Given the description of an element on the screen output the (x, y) to click on. 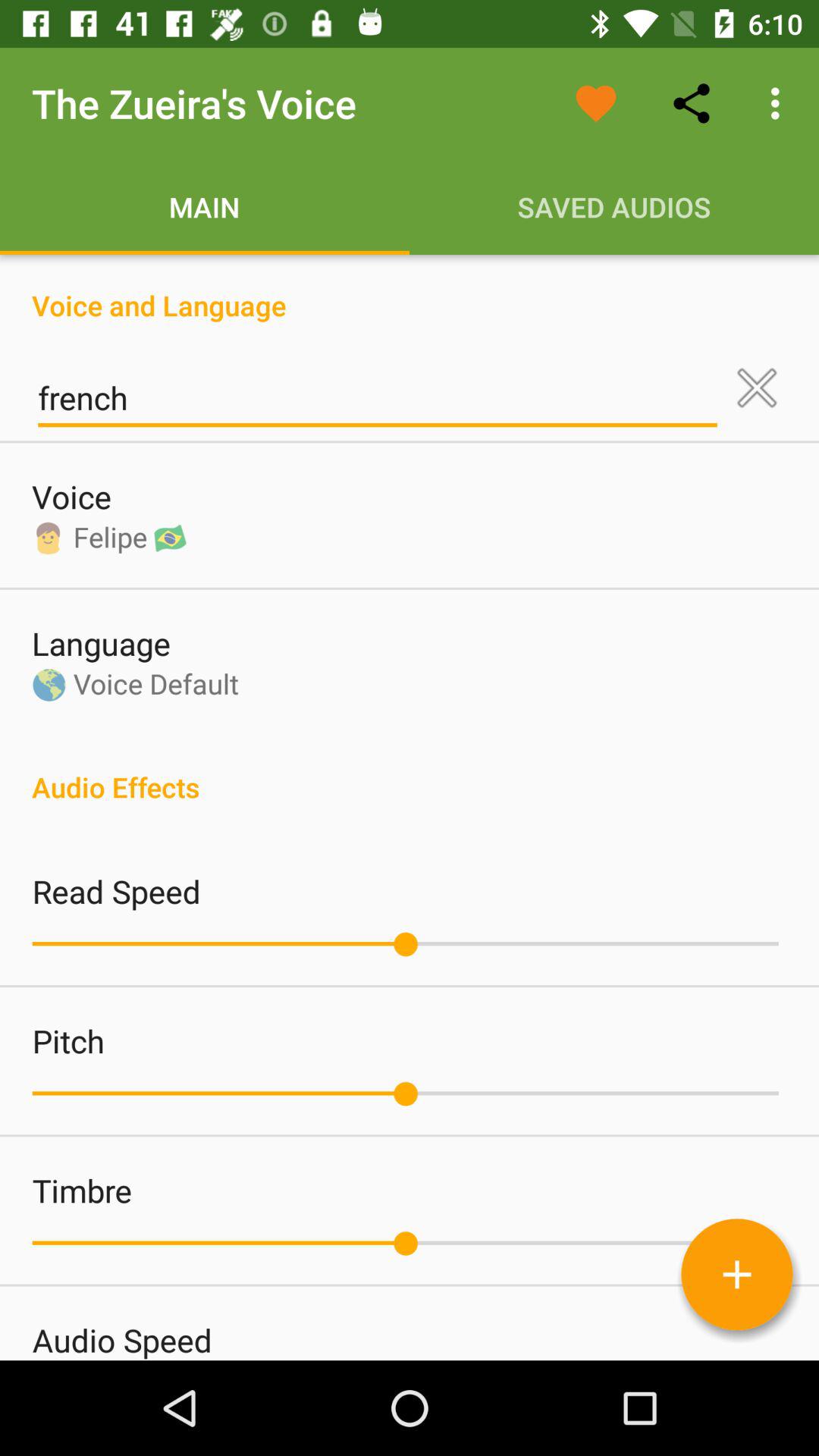
choose icon to the right of the audio speed icon (737, 1274)
